Given the description of an element on the screen output the (x, y) to click on. 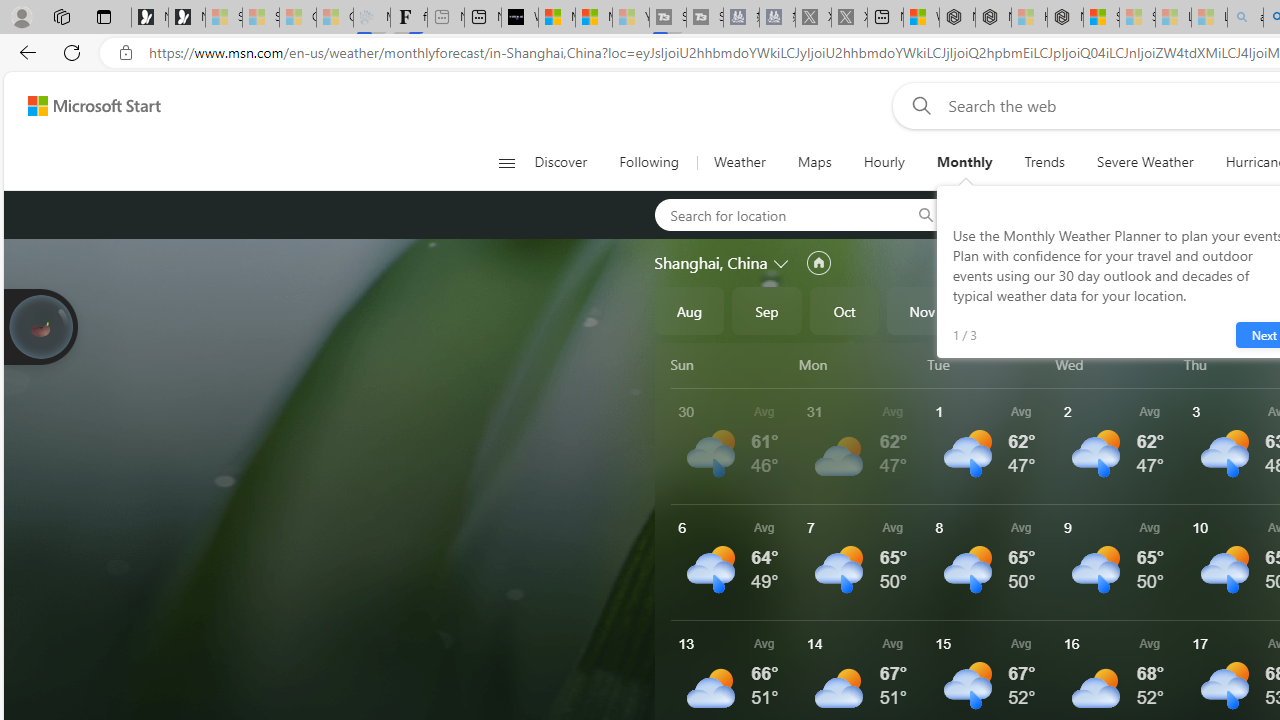
Nordace - Nordace Siena Is Not An Ordinary Backpack (1065, 17)
Wed (1115, 363)
Feb (1155, 310)
Feb (1155, 310)
Shanghai, China (711, 263)
Tue (987, 363)
Microsoft Start (593, 17)
Change location (782, 262)
Dec (1000, 310)
